Given the description of an element on the screen output the (x, y) to click on. 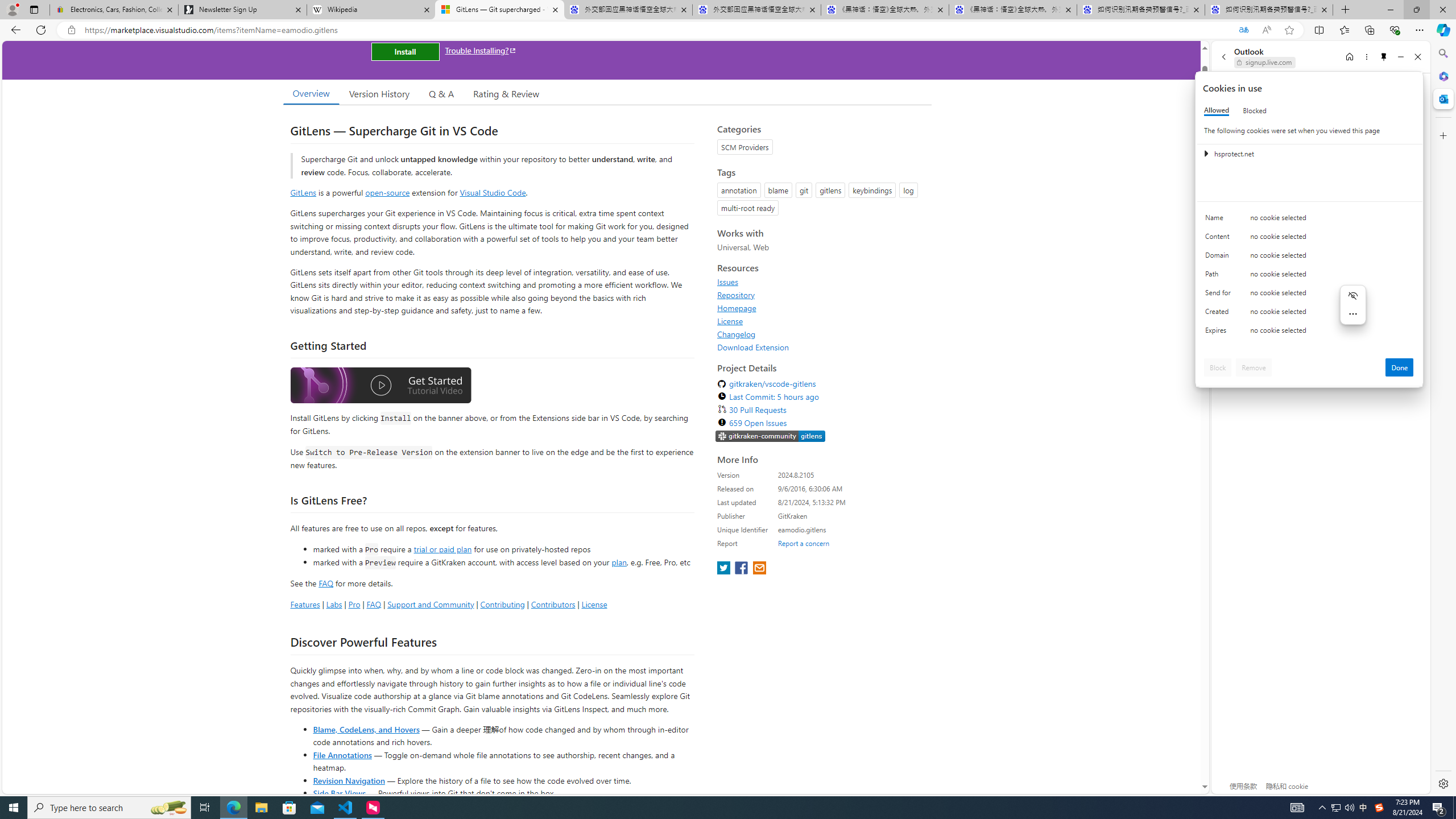
More actions (1352, 313)
Expires (1219, 332)
Domain (1219, 257)
Block (1217, 367)
